Given the description of an element on the screen output the (x, y) to click on. 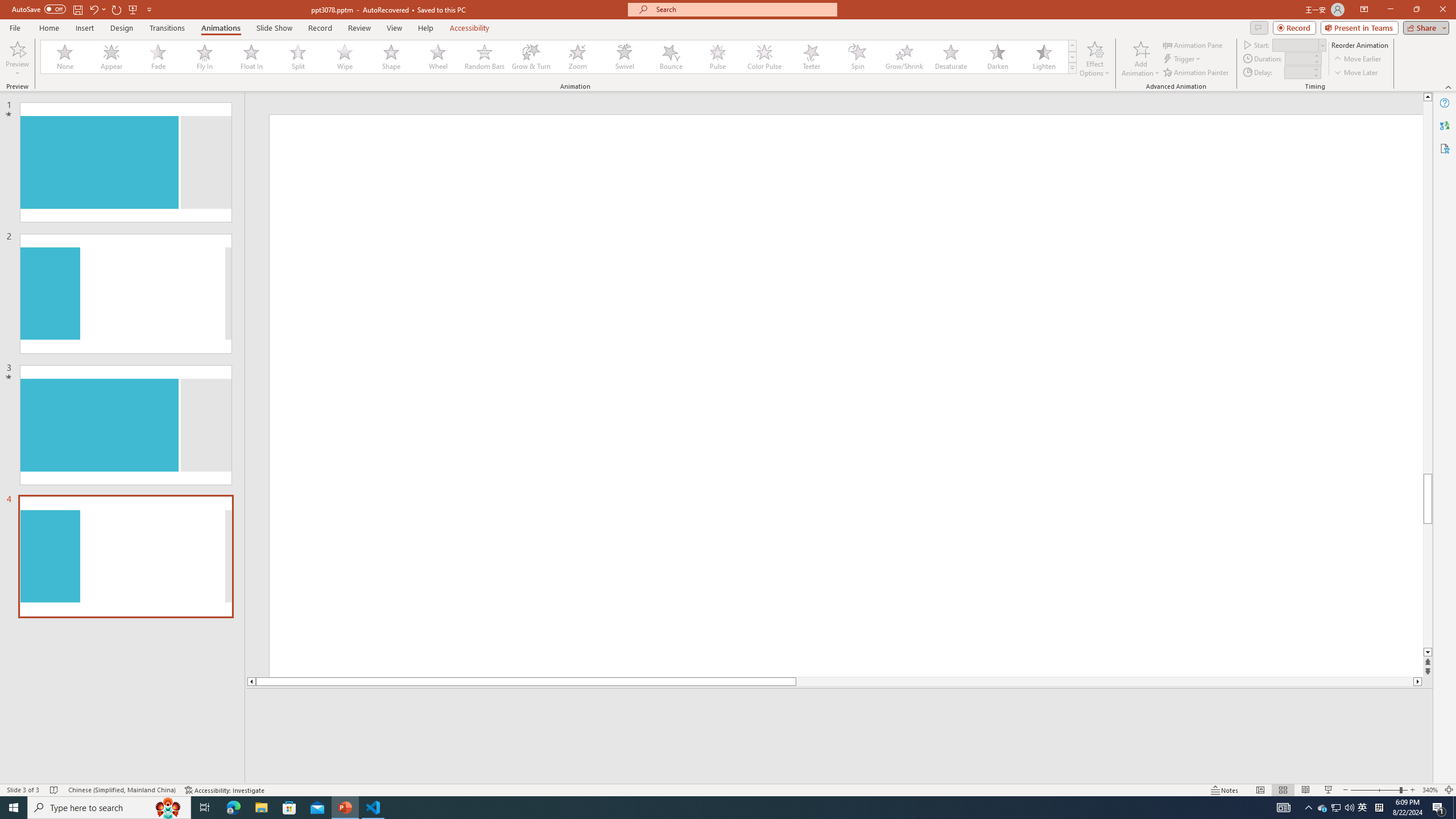
Animation Pane (1193, 44)
Shape (391, 56)
Animation Styles (1071, 67)
Wipe (344, 56)
